Given the description of an element on the screen output the (x, y) to click on. 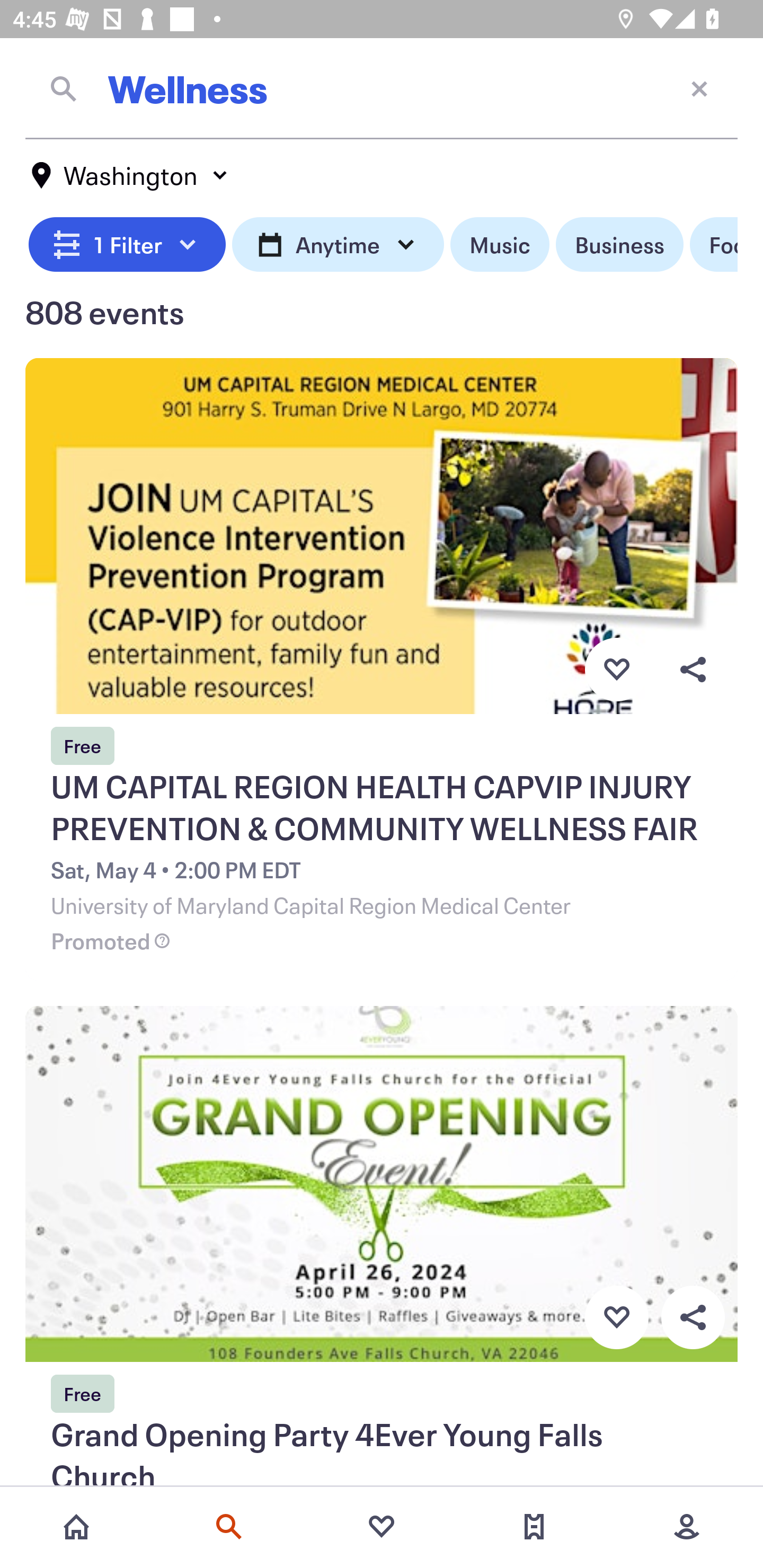
Wellness Close current screen (381, 88)
Close current screen (699, 88)
Washington (130, 175)
1 Filter (126, 244)
Anytime (337, 244)
Music (499, 244)
Business (619, 244)
Favorite button (616, 669)
Overflow menu button (692, 669)
Favorite button (616, 1317)
Overflow menu button (692, 1317)
Home (76, 1526)
Search events (228, 1526)
Favorites (381, 1526)
Tickets (533, 1526)
More (686, 1526)
